Given the description of an element on the screen output the (x, y) to click on. 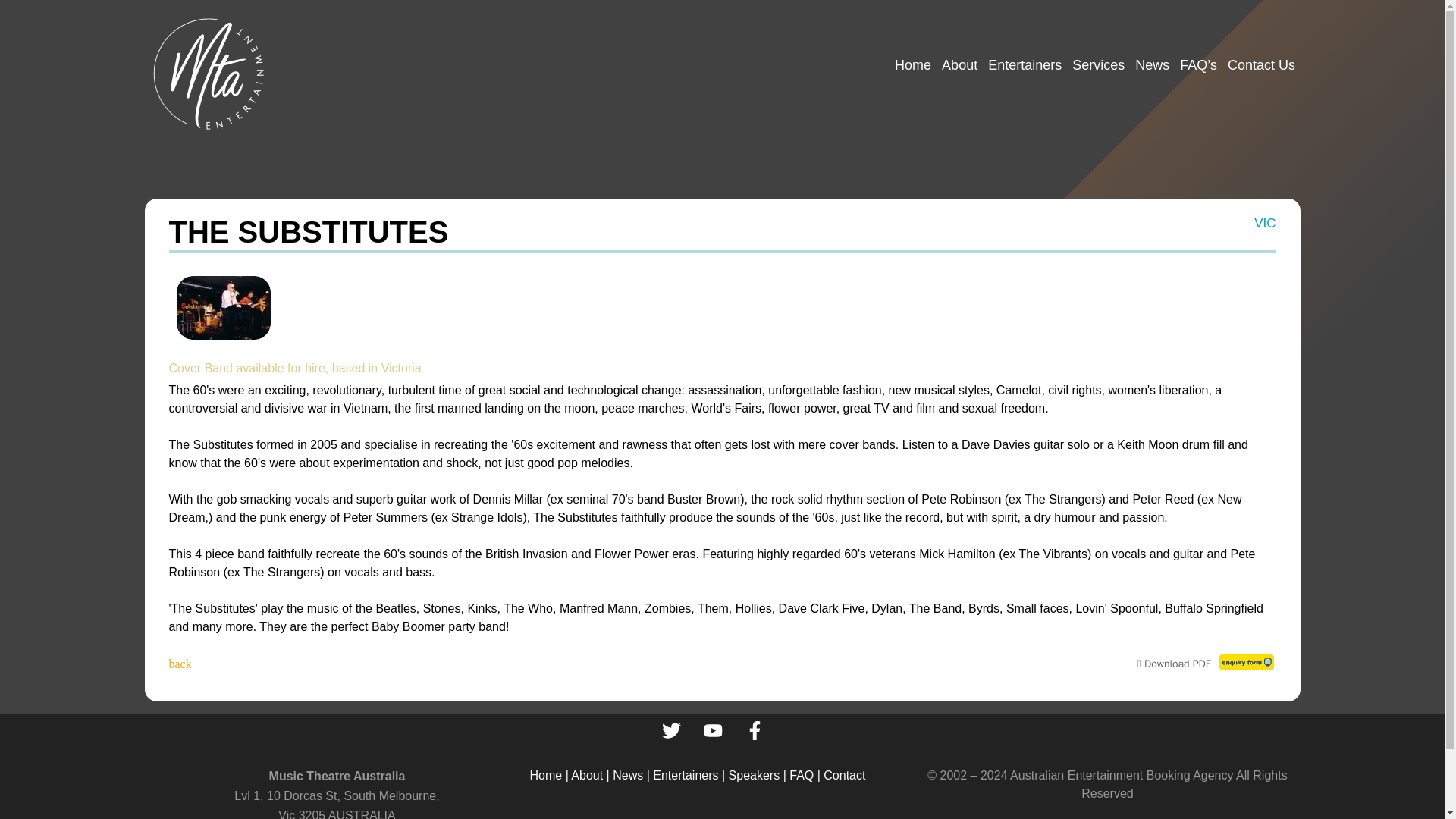
MTAmainlogo (208, 73)
Services (1098, 64)
Entertainers (1024, 64)
Home (912, 64)
About (959, 64)
